Given the description of an element on the screen output the (x, y) to click on. 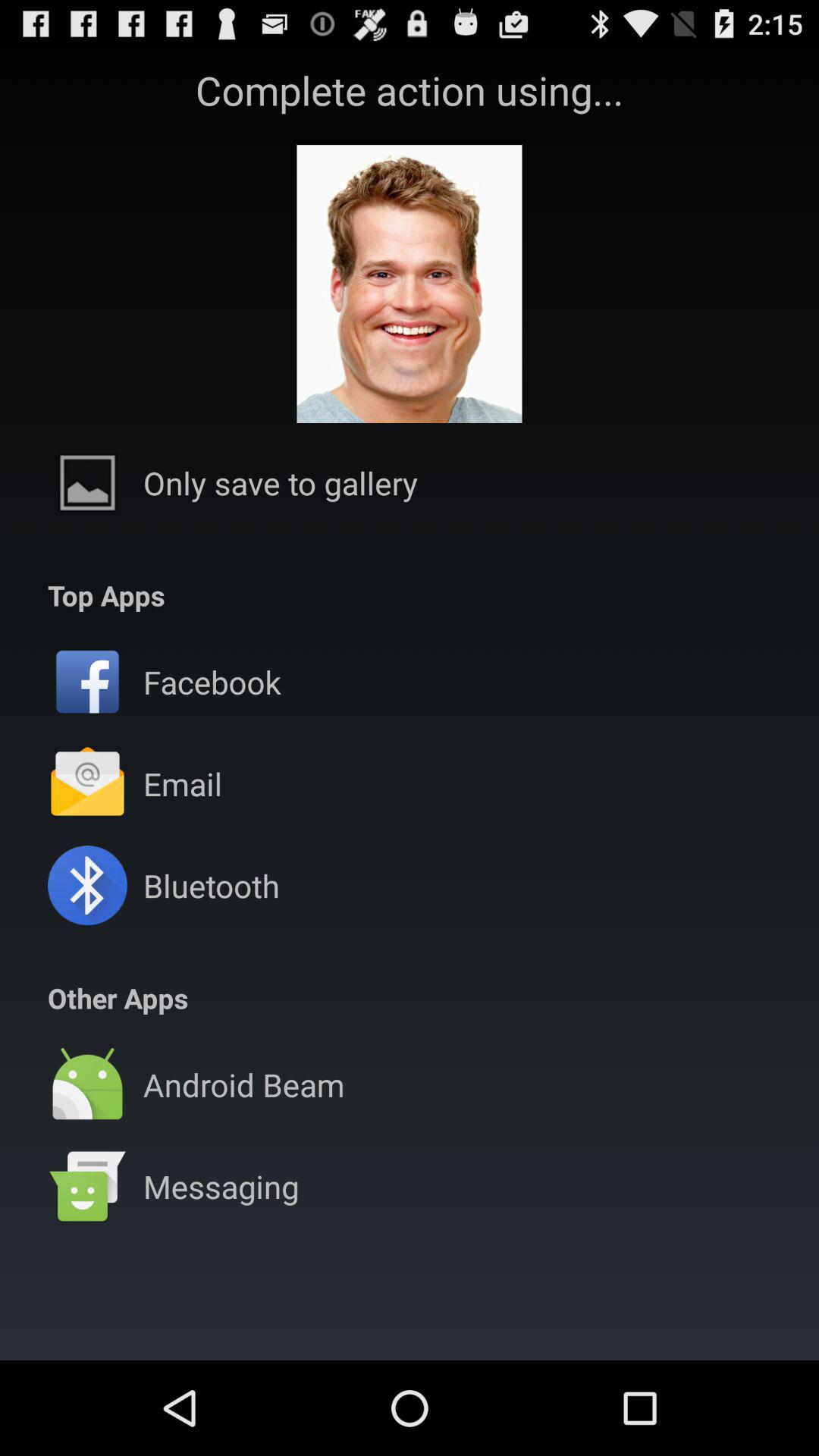
press top apps app (105, 595)
